Given the description of an element on the screen output the (x, y) to click on. 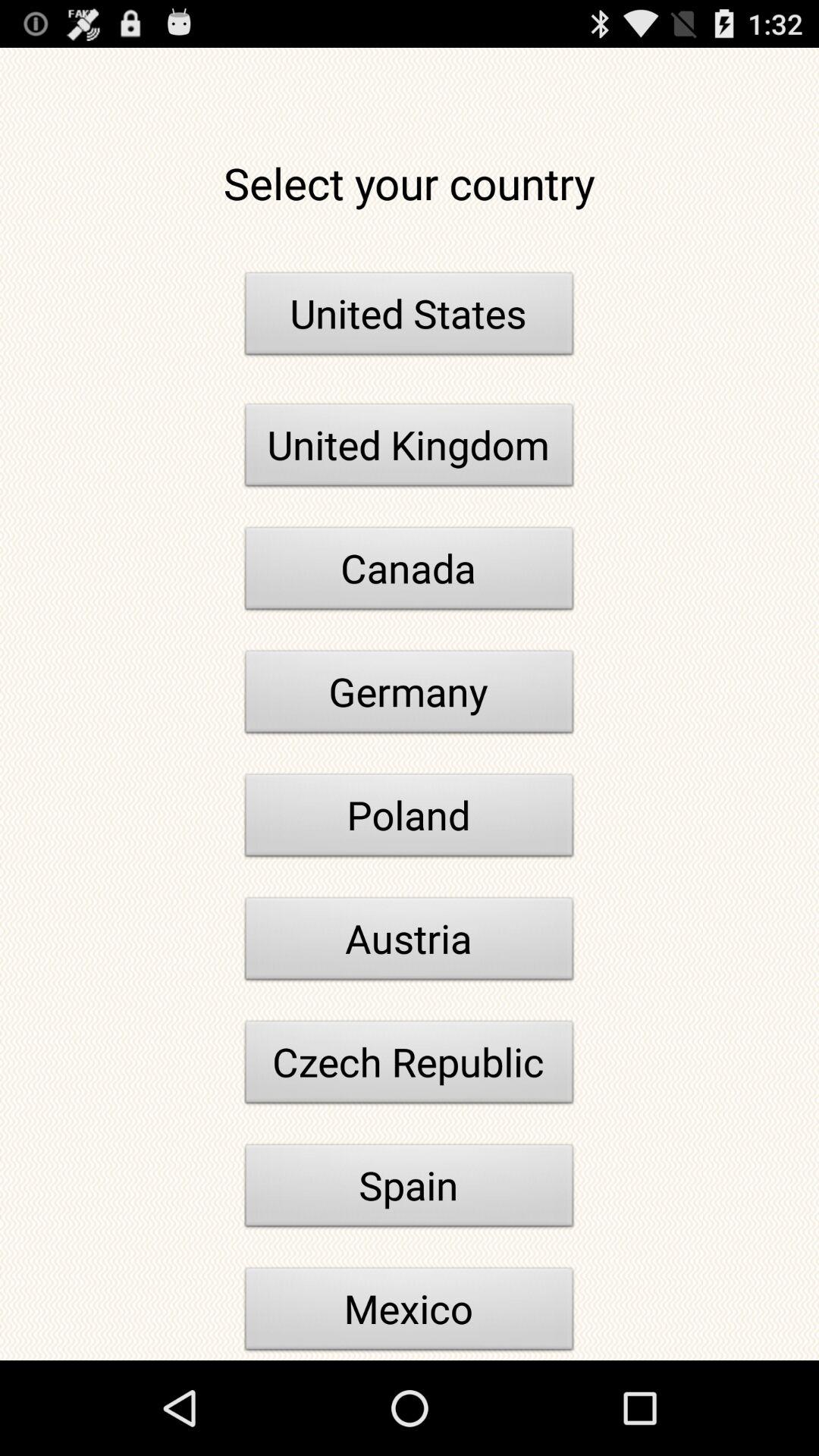
open mexico icon (409, 1312)
